Given the description of an element on the screen output the (x, y) to click on. 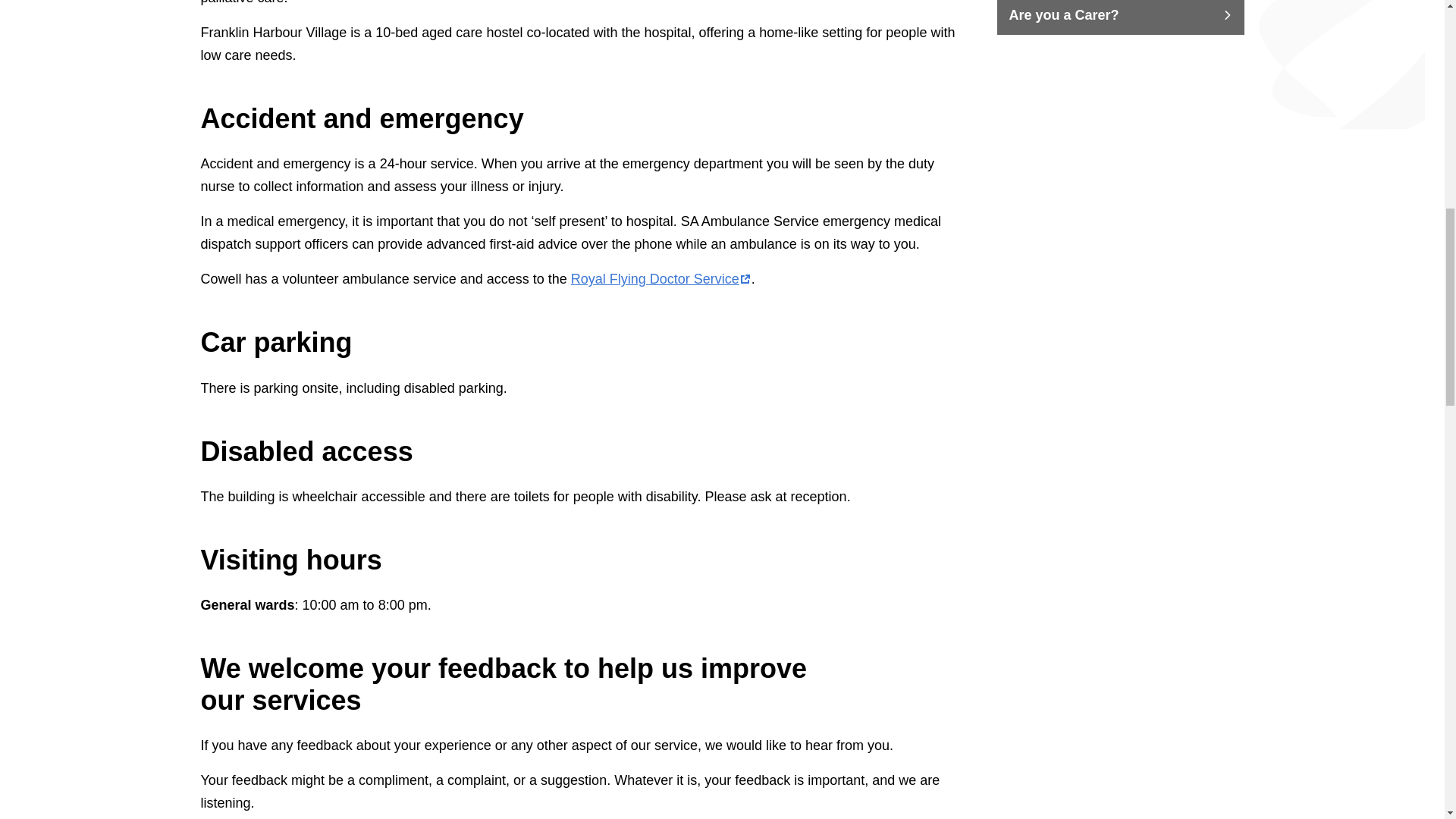
Link to external site. (660, 278)
